Given the description of an element on the screen output the (x, y) to click on. 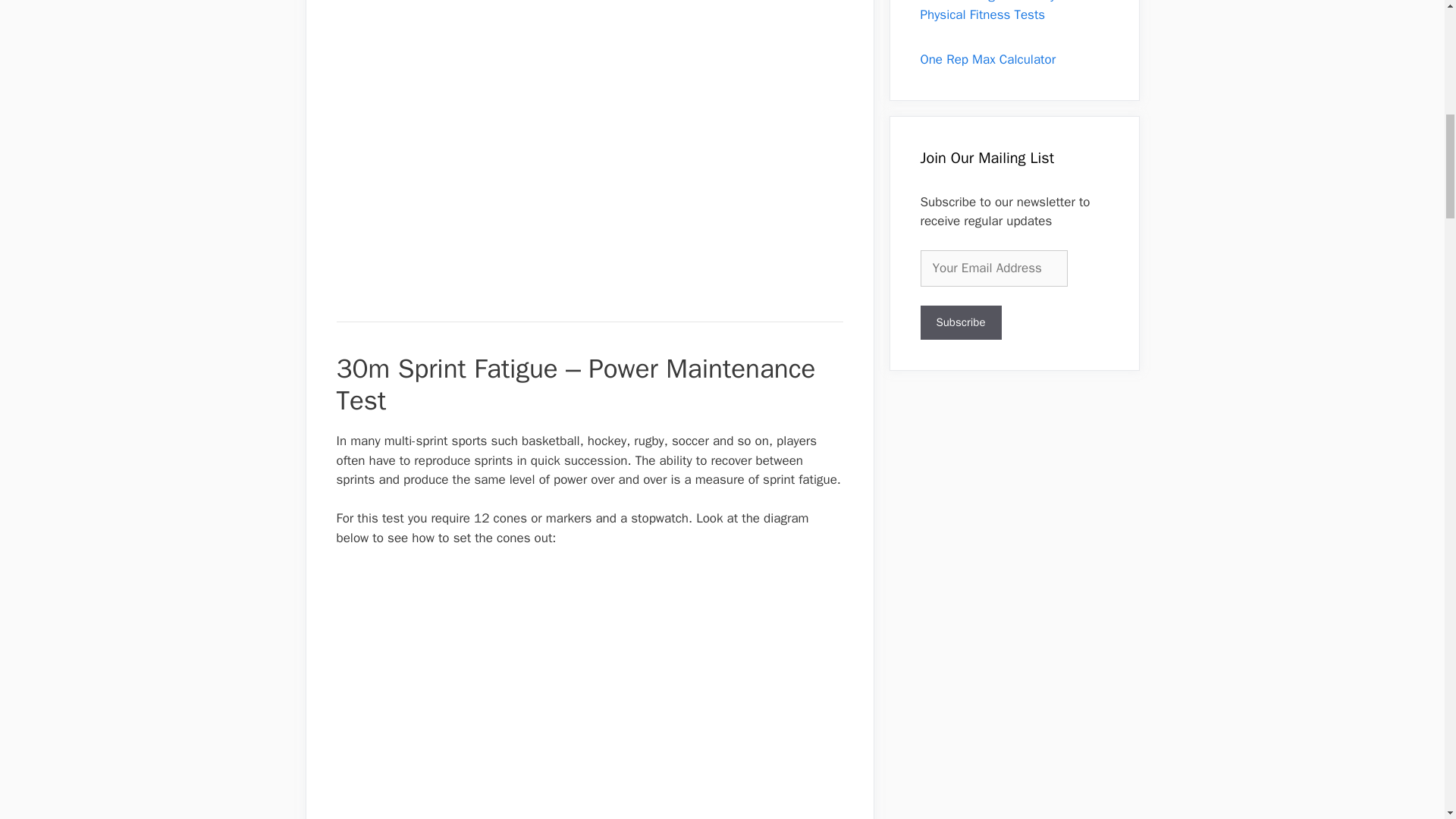
Subscribe (960, 322)
